Given the description of an element on the screen output the (x, y) to click on. 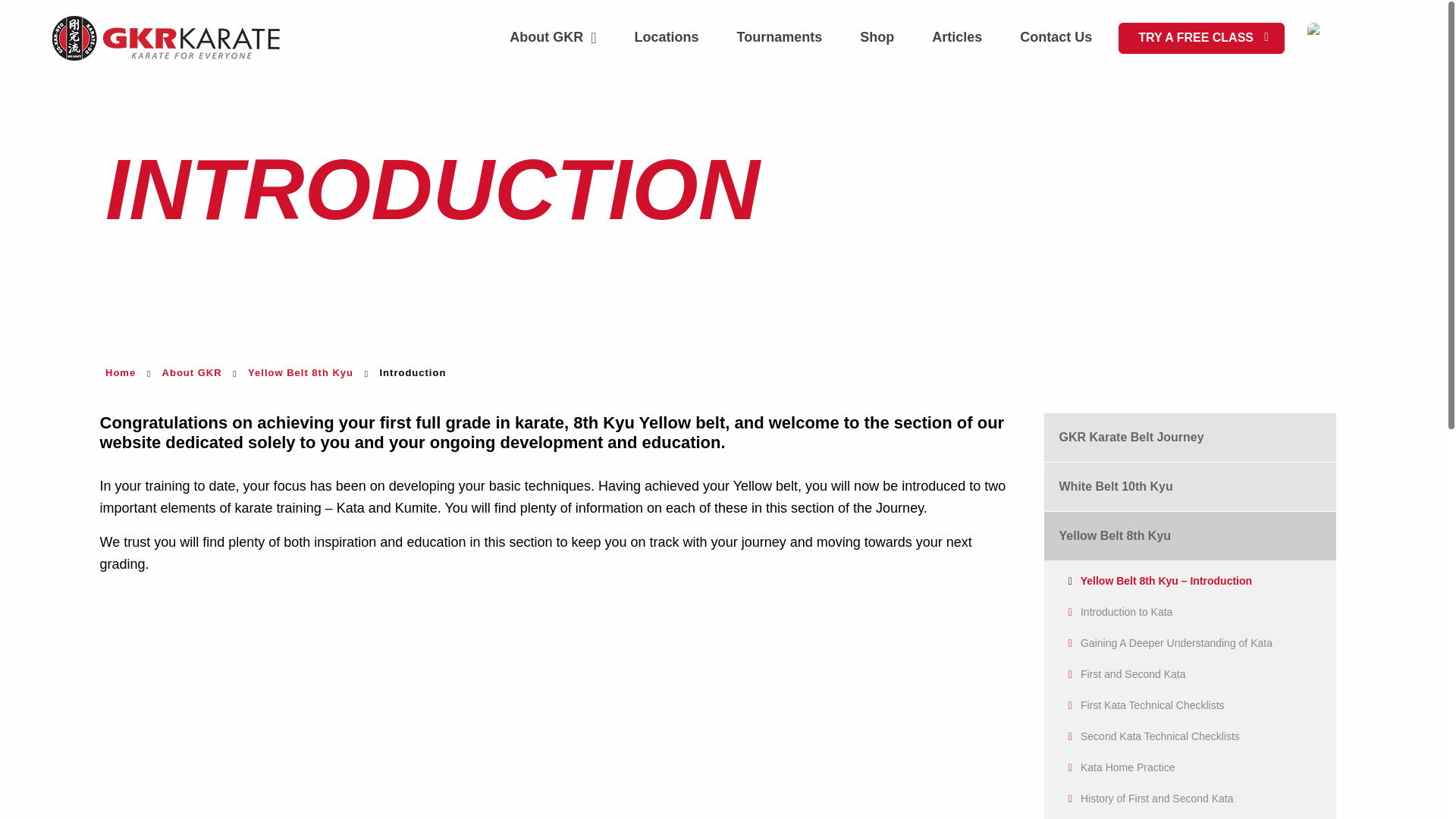
Shop (876, 38)
Locations (666, 38)
TRY A FREE CLASS (1201, 37)
Tournaments (779, 38)
Contact Us (1055, 38)
Articles (956, 38)
About GKR (552, 38)
